Given the description of an element on the screen output the (x, y) to click on. 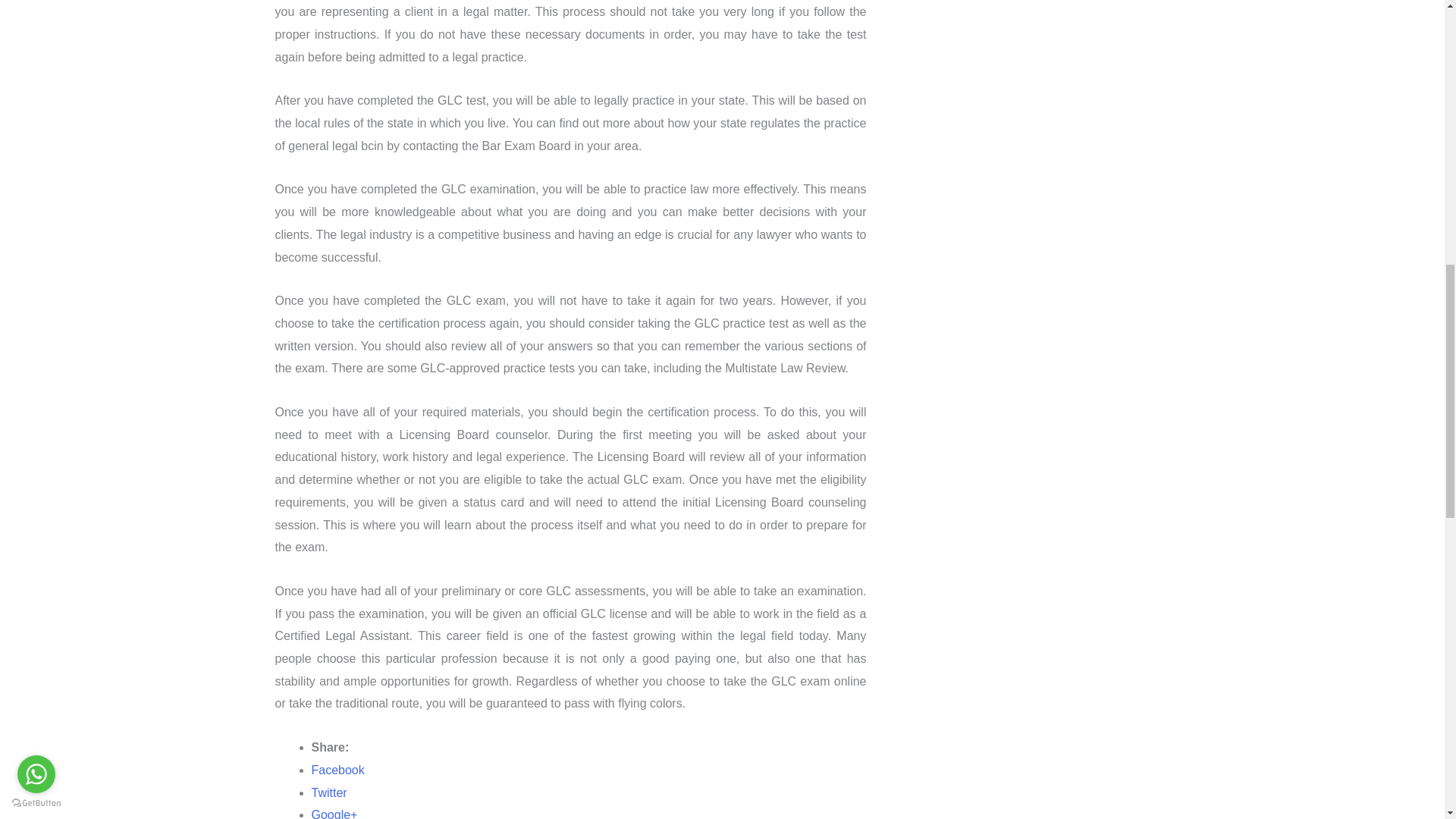
Facebook (337, 769)
Twitter (328, 792)
